Given the description of an element on the screen output the (x, y) to click on. 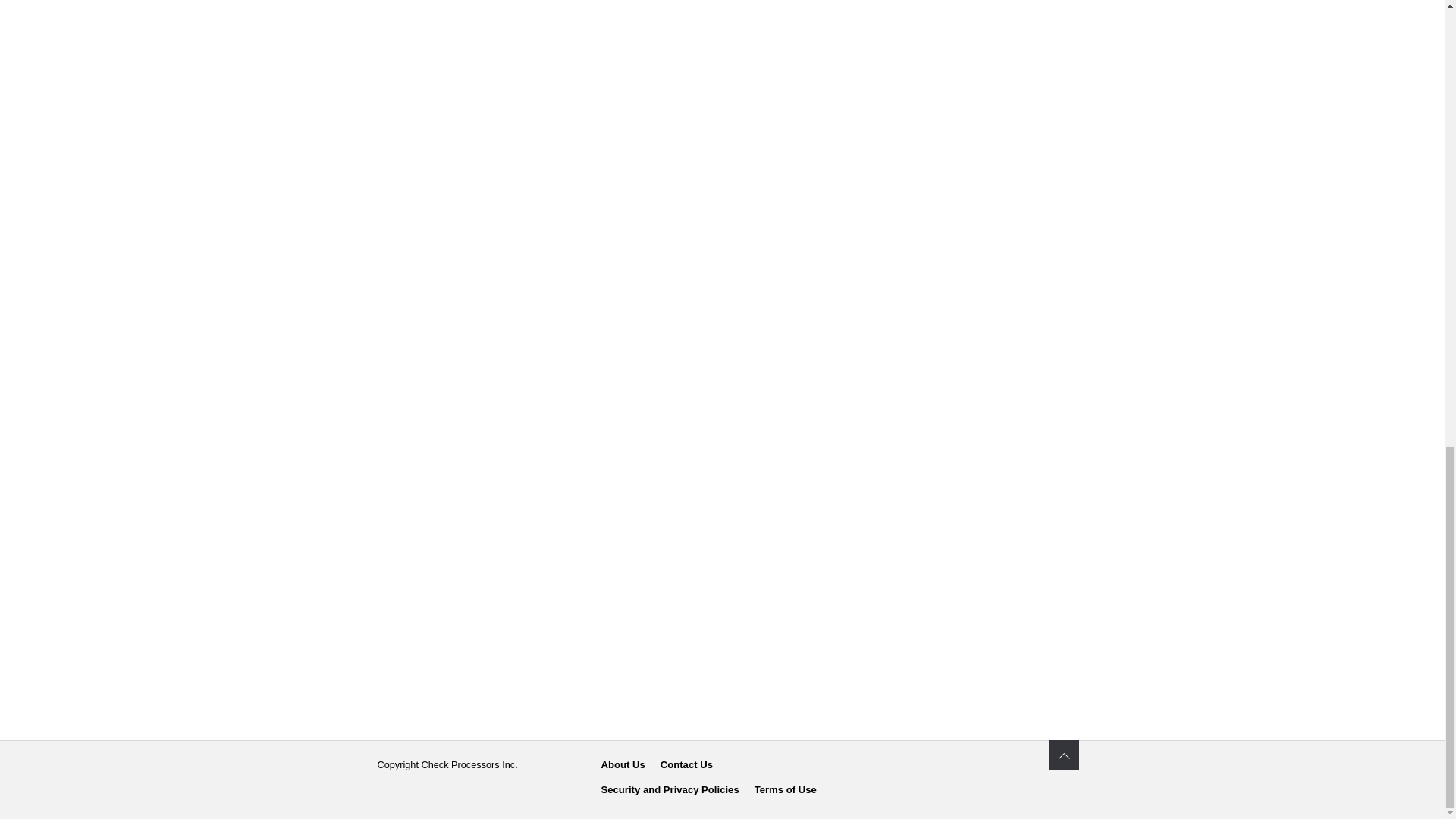
Security and Privacy Policies (668, 790)
Contact Us (687, 764)
Terms of Use (785, 790)
About Us (622, 764)
